Given the description of an element on the screen output the (x, y) to click on. 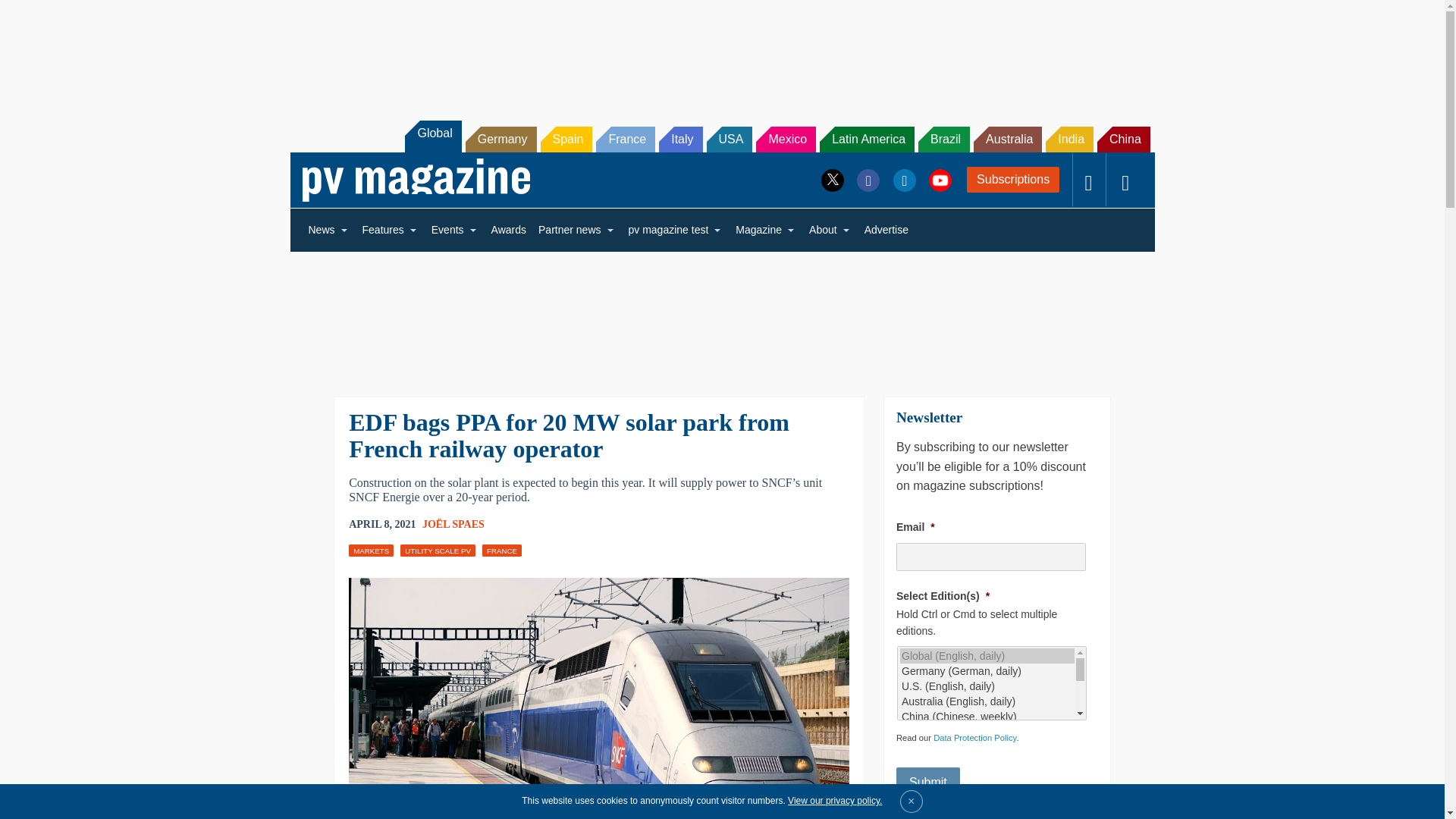
Spain (566, 139)
Global (432, 136)
India (1069, 139)
Brazil (943, 139)
Italy (680, 139)
Australia (1008, 139)
Latin America (866, 139)
Mexico (785, 139)
pv magazine - Photovoltaics Markets and Technology (415, 180)
Thursday, April 8, 2021, 10:38 am (381, 524)
3rd party ad content (721, 314)
Germany (501, 139)
Submit (927, 782)
pv magazine - Photovoltaics Markets and Technology (415, 179)
China (1123, 139)
